Given the description of an element on the screen output the (x, y) to click on. 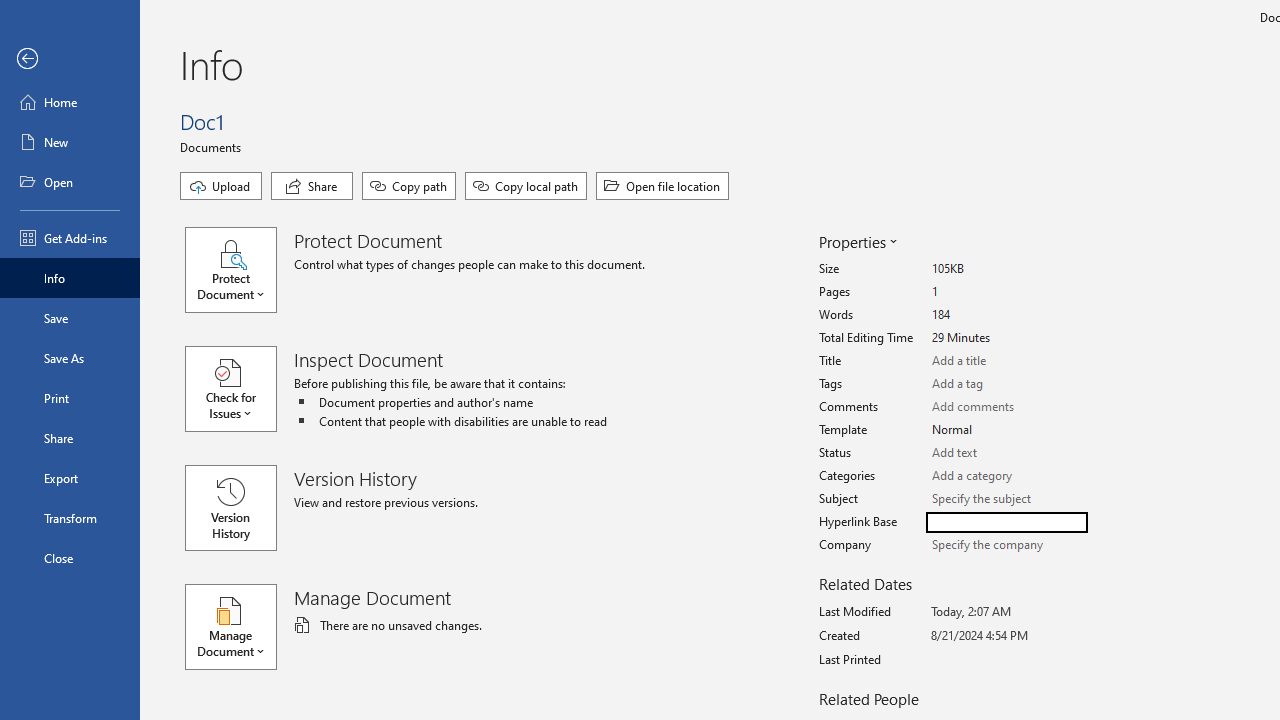
Version History (230, 507)
Words (1006, 315)
Back (69, 59)
Share (312, 186)
Upload (221, 186)
Categories (1006, 476)
Get Add-ins (69, 237)
Transform (69, 517)
Open (69, 182)
